Given the description of an element on the screen output the (x, y) to click on. 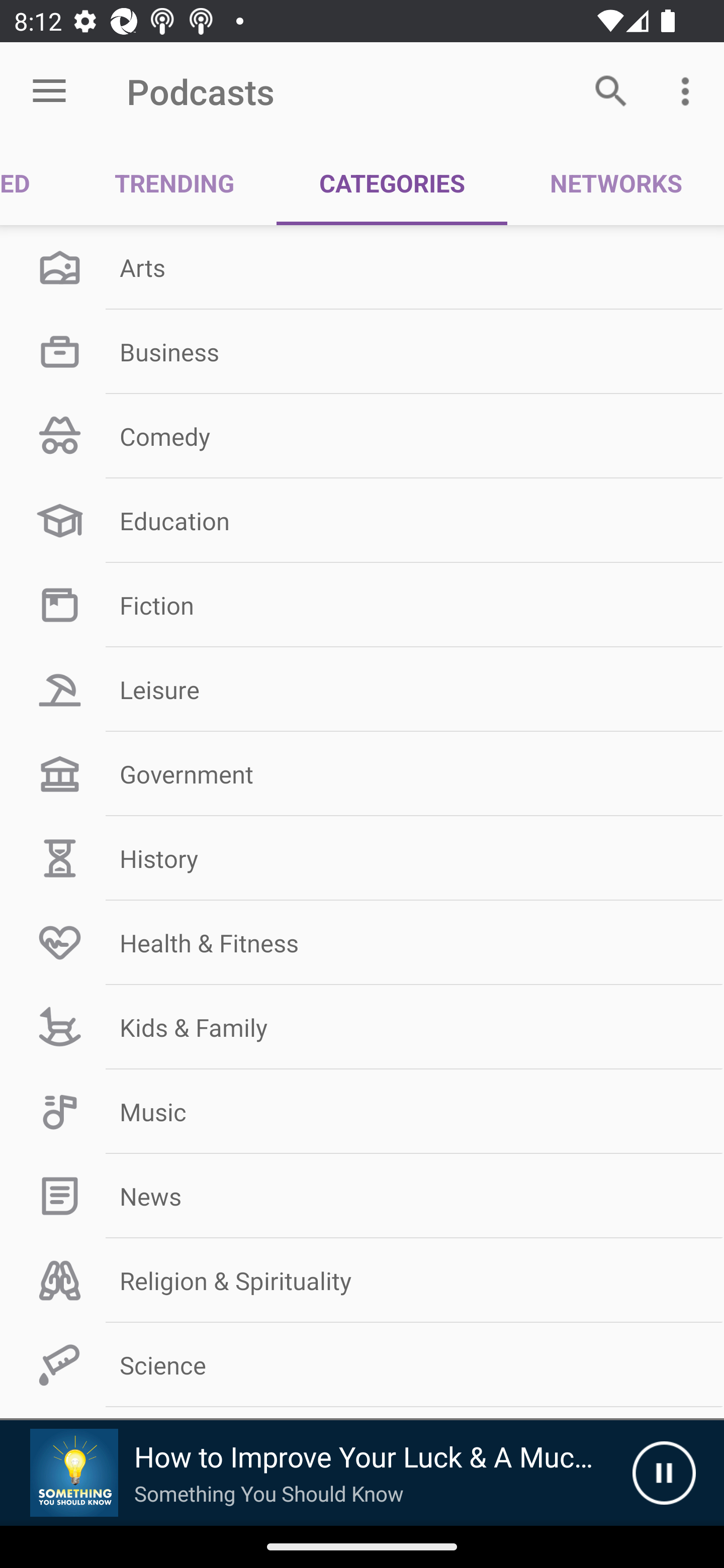
Open menu (49, 91)
Search (611, 90)
More options (688, 90)
TRENDING (174, 183)
CATEGORIES (391, 183)
NETWORKS (615, 183)
Arts (362, 266)
Business (362, 350)
Comedy (362, 435)
Education (362, 520)
Fiction (362, 604)
Leisure (362, 689)
Government (362, 774)
History (362, 858)
Health & Fitness (362, 942)
Kids & Family (362, 1026)
Music (362, 1111)
News (362, 1196)
Religion & Spirituality (362, 1280)
Science (362, 1364)
Pause (663, 1472)
